Given the description of an element on the screen output the (x, y) to click on. 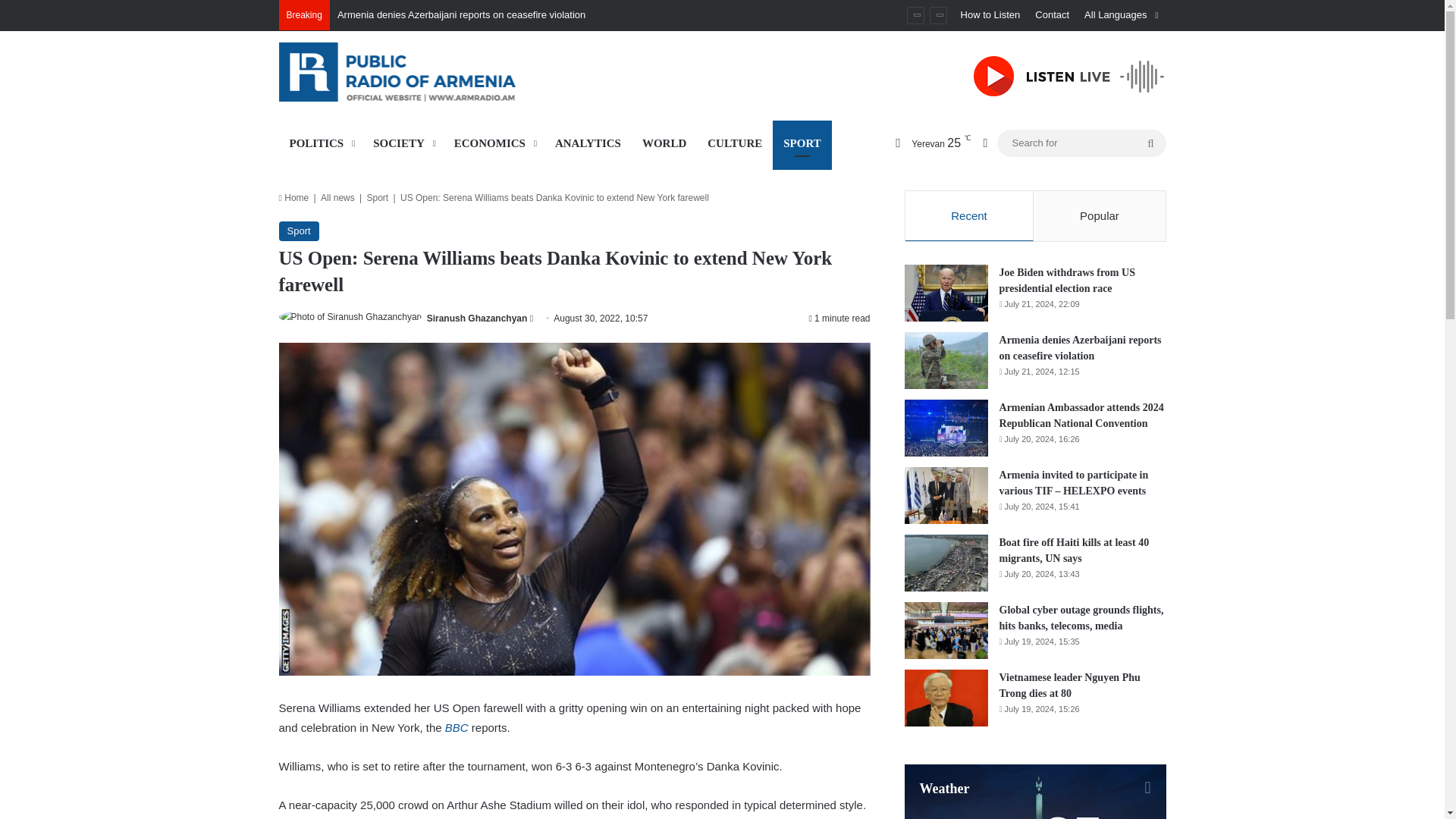
Contact (1052, 15)
Search for (1150, 143)
Home (293, 197)
Siranush Ghazanchyan (476, 317)
POLITICS (320, 143)
Public Radio of Armenia (419, 71)
Clear Sky (926, 142)
Search for (1080, 142)
CULTURE (735, 143)
Siranush Ghazanchyan (476, 317)
WORLD (664, 143)
Sport (377, 197)
SOCIETY (403, 143)
Sport (298, 230)
How to Listen (990, 15)
